Given the description of an element on the screen output the (x, y) to click on. 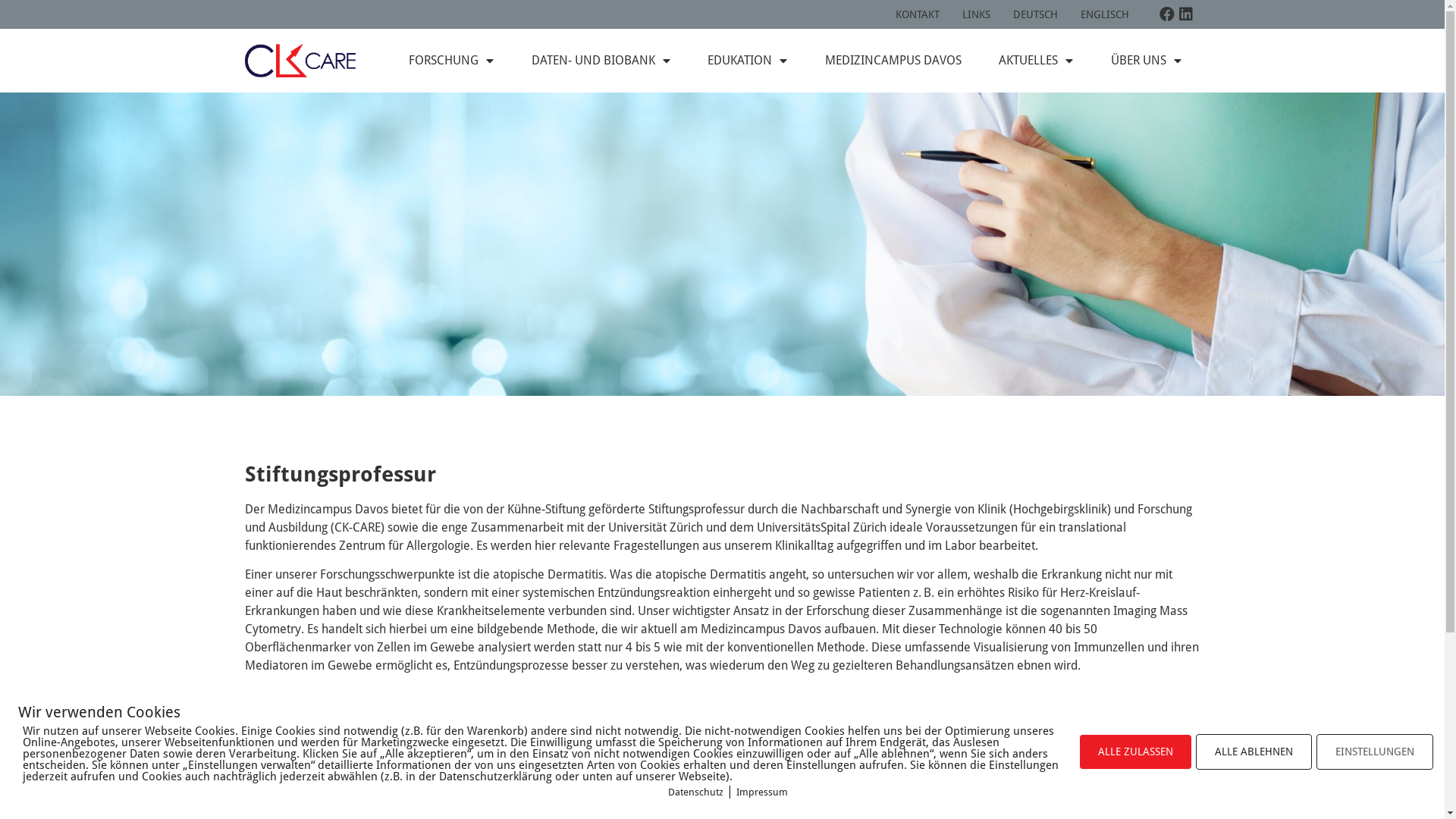
EINSTELLUNGEN Element type: text (1374, 751)
EDUKATION Element type: text (747, 60)
Impressum Element type: text (761, 791)
FORSCHUNG Element type: text (451, 60)
Datenschutz Element type: text (695, 791)
AKTUELLES Element type: text (1035, 60)
DATEN- UND BIOBANK Element type: text (600, 60)
ALLE ZULASSEN Element type: text (1135, 751)
MEDIZINCAMPUS DAVOS Element type: text (892, 60)
ALLE ABLEHNEN Element type: text (1253, 751)
